Given the description of an element on the screen output the (x, y) to click on. 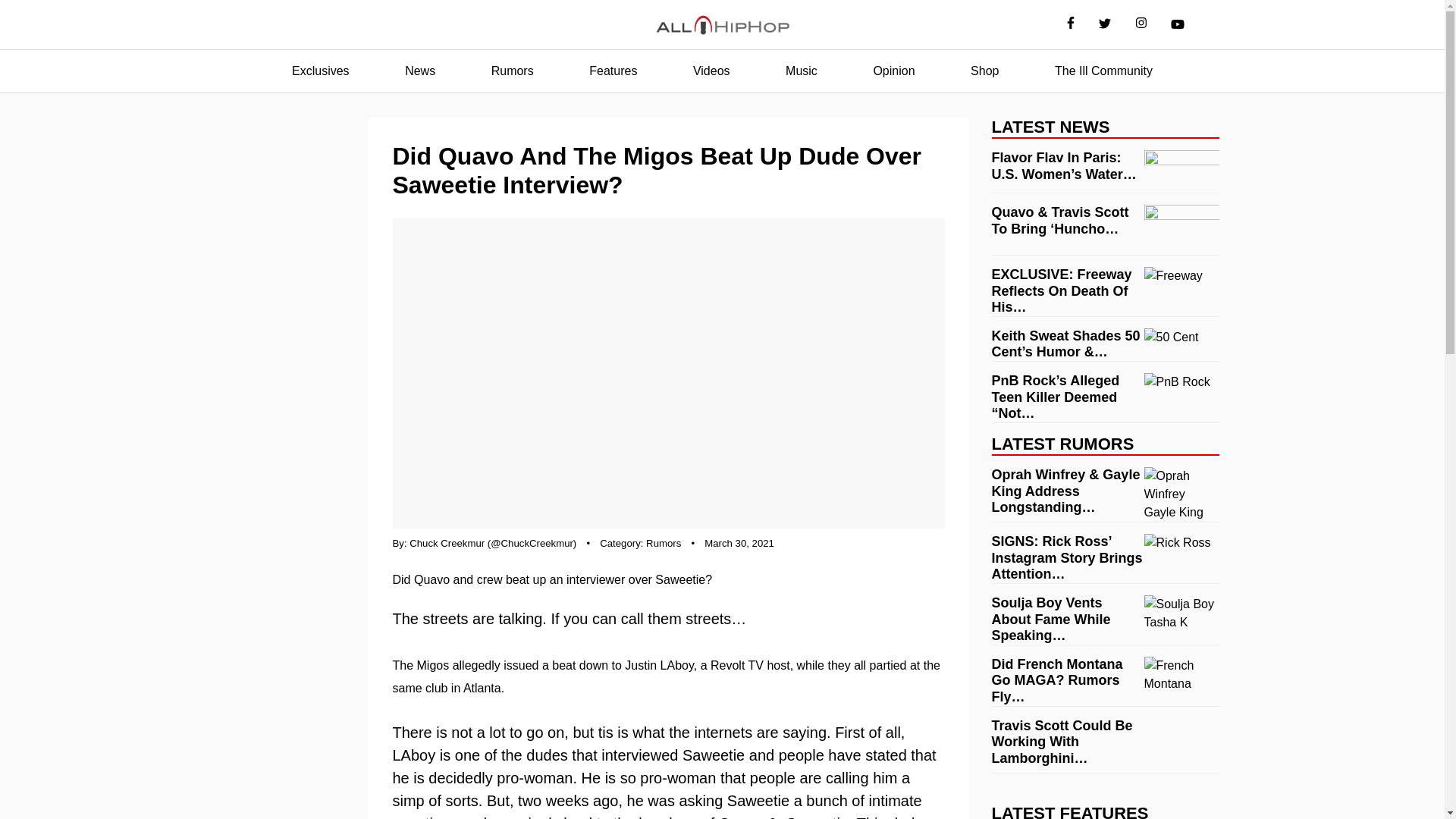
The Ill Community (1103, 70)
Videos (711, 70)
Shop (984, 70)
News (419, 70)
AllHipHop (722, 25)
Exclusives (320, 70)
Opinion (893, 70)
Music (801, 70)
March 30, 2021 (739, 542)
Features (612, 70)
Rumors (512, 70)
Rumors (663, 542)
